Given the description of an element on the screen output the (x, y) to click on. 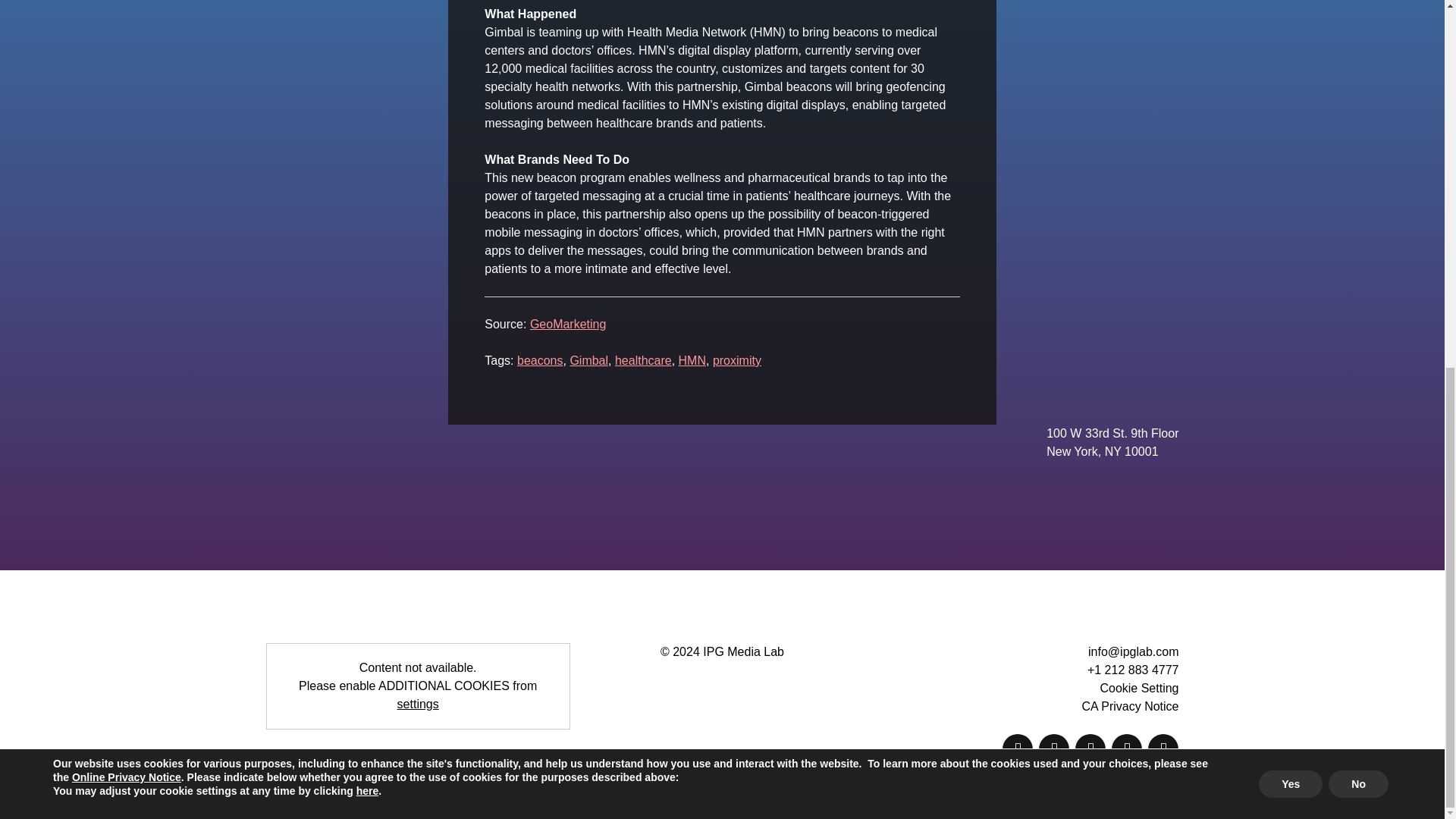
Facebook (1053, 748)
LinkedIn (1162, 748)
GeoMarketing (568, 323)
Cookie Setting (1138, 687)
healthcare (642, 359)
Yes (1290, 121)
Twitter (1090, 748)
HMN (692, 359)
Online Privacy Notice (125, 114)
No (1358, 121)
